Given the description of an element on the screen output the (x, y) to click on. 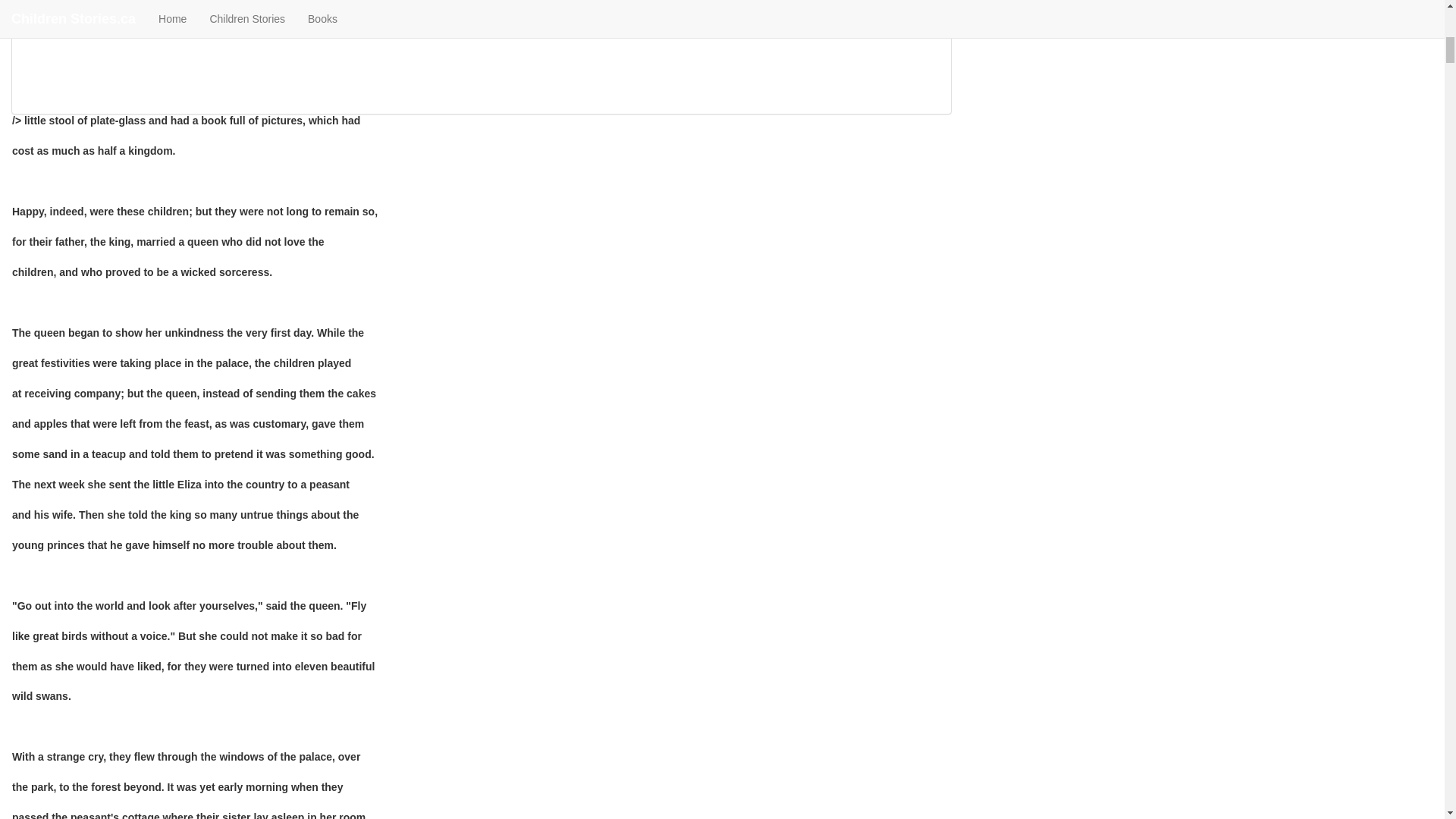
Advertisement (136, 36)
